Given the description of an element on the screen output the (x, y) to click on. 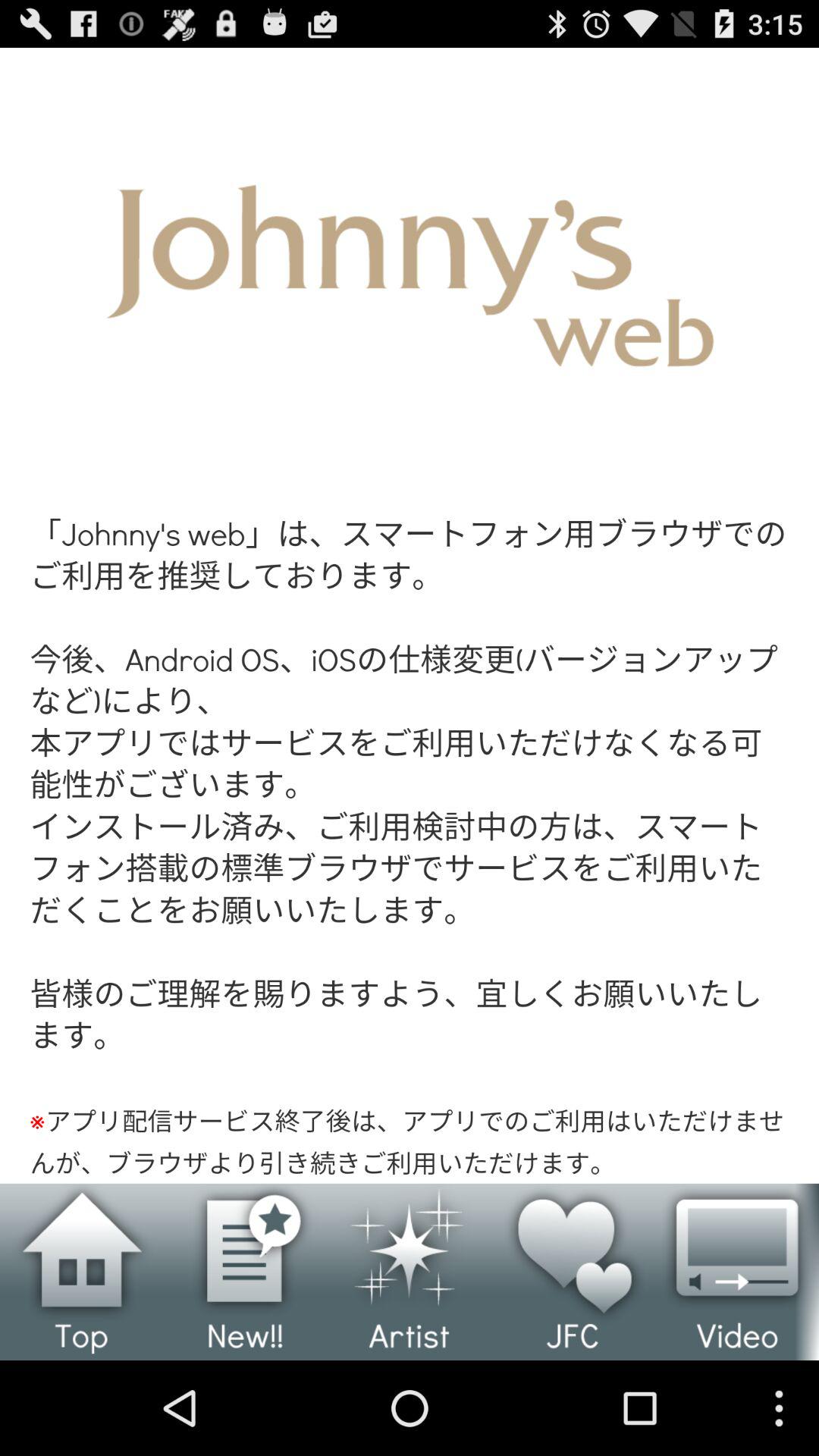
open johnny 's web (409, 615)
